Given the description of an element on the screen output the (x, y) to click on. 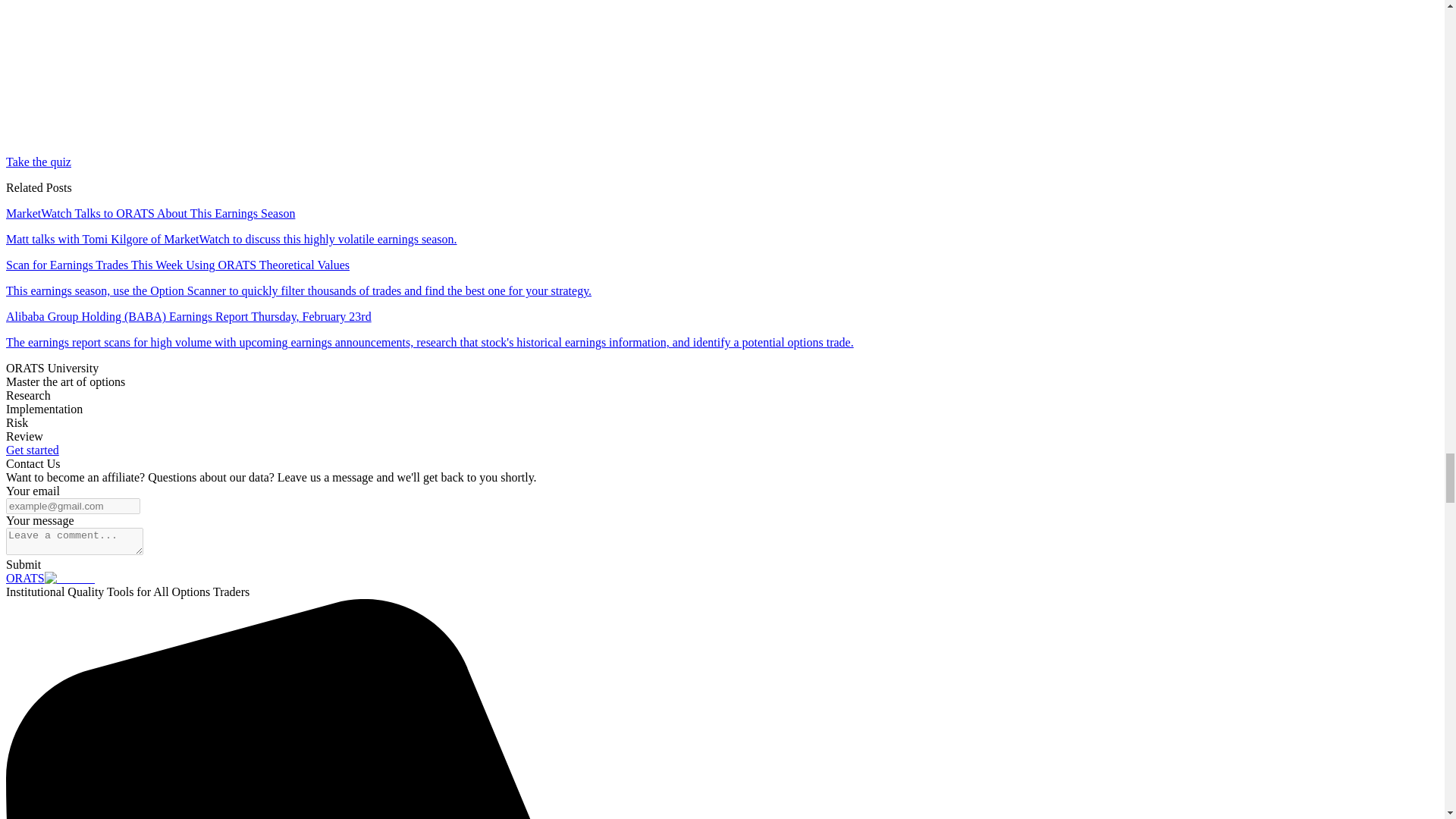
Get started (32, 449)
ORATS (49, 577)
